Given the description of an element on the screen output the (x, y) to click on. 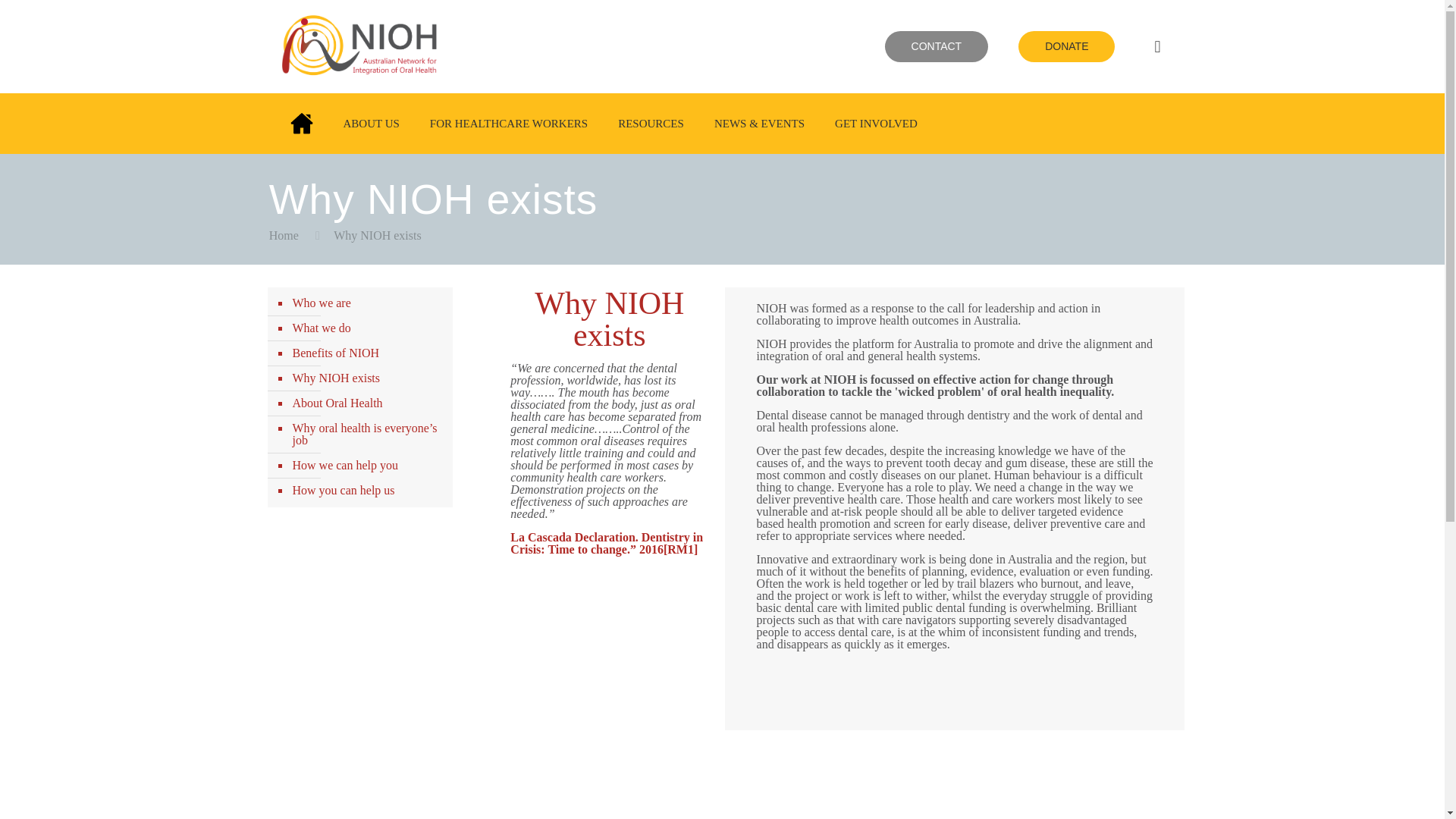
ABOUT US (370, 123)
RESOURCES (650, 123)
GET INVOLVED (876, 123)
FOR HEALTHCARE WORKERS (508, 123)
NIOH (366, 86)
CONTACT (936, 46)
DONATE (1066, 46)
